Given the description of an element on the screen output the (x, y) to click on. 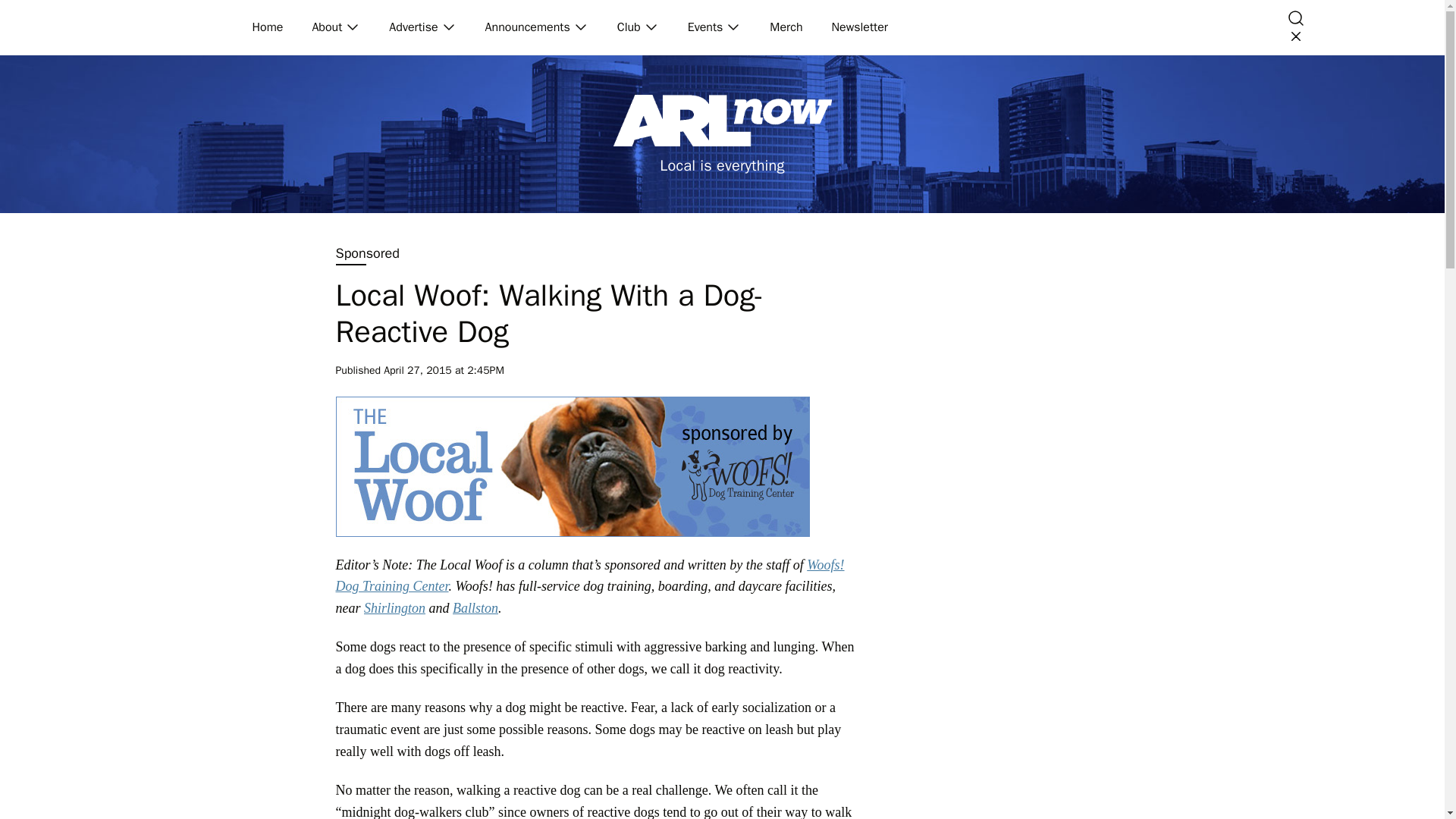
Announcements (528, 27)
Home (267, 27)
About (327, 27)
Advertise (413, 27)
Local Woof logo (571, 466)
